Given the description of an element on the screen output the (x, y) to click on. 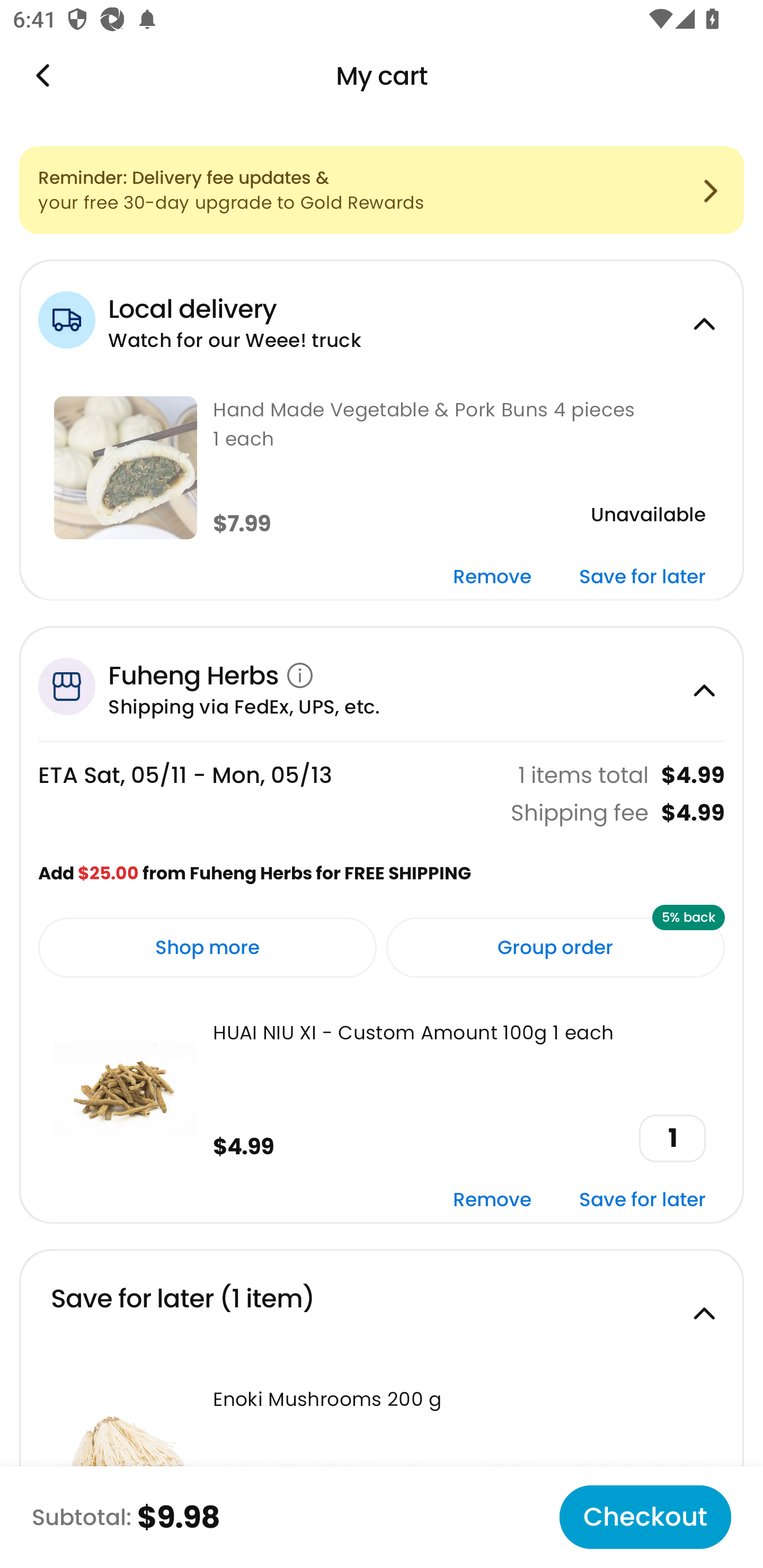
Local delivery Watch for our Weee! truck (381, 317)
Remove (491, 577)
Save for later (642, 577)
Fuheng Herbs Shipping via FedEx, UPS, etc. (381, 682)
Shop more (207, 947)
Group order (555, 947)
1 (672, 1137)
Remove (491, 1200)
Save for later (642, 1200)
Checkout (644, 1516)
